Given the description of an element on the screen output the (x, y) to click on. 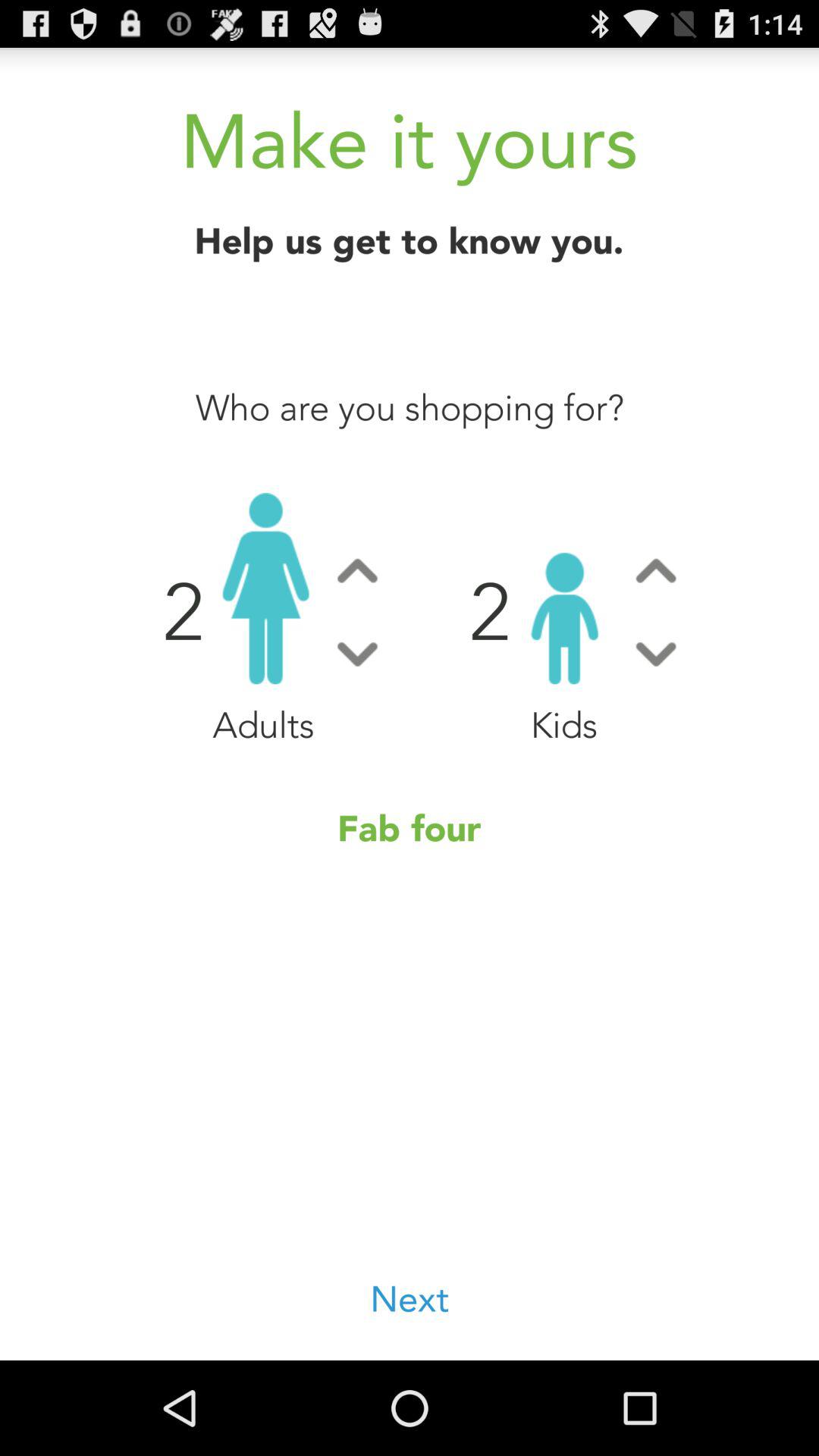
decrease the number of childs for the app (655, 654)
